Given the description of an element on the screen output the (x, y) to click on. 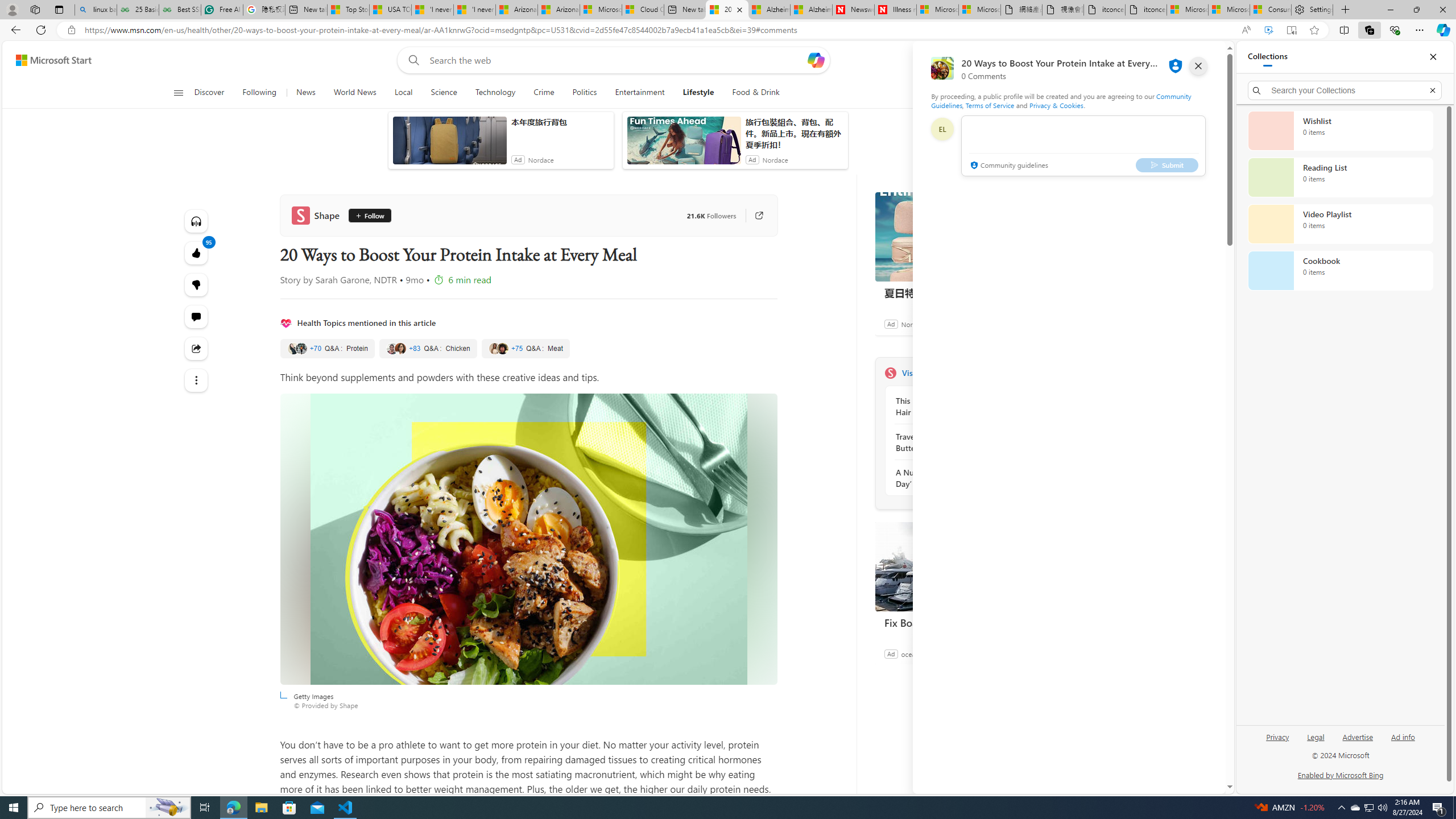
Protein (326, 348)
Community guidelines (1008, 165)
Getty Images (528, 538)
anim-content (683, 144)
95 Like (196, 252)
